Given the description of an element on the screen output the (x, y) to click on. 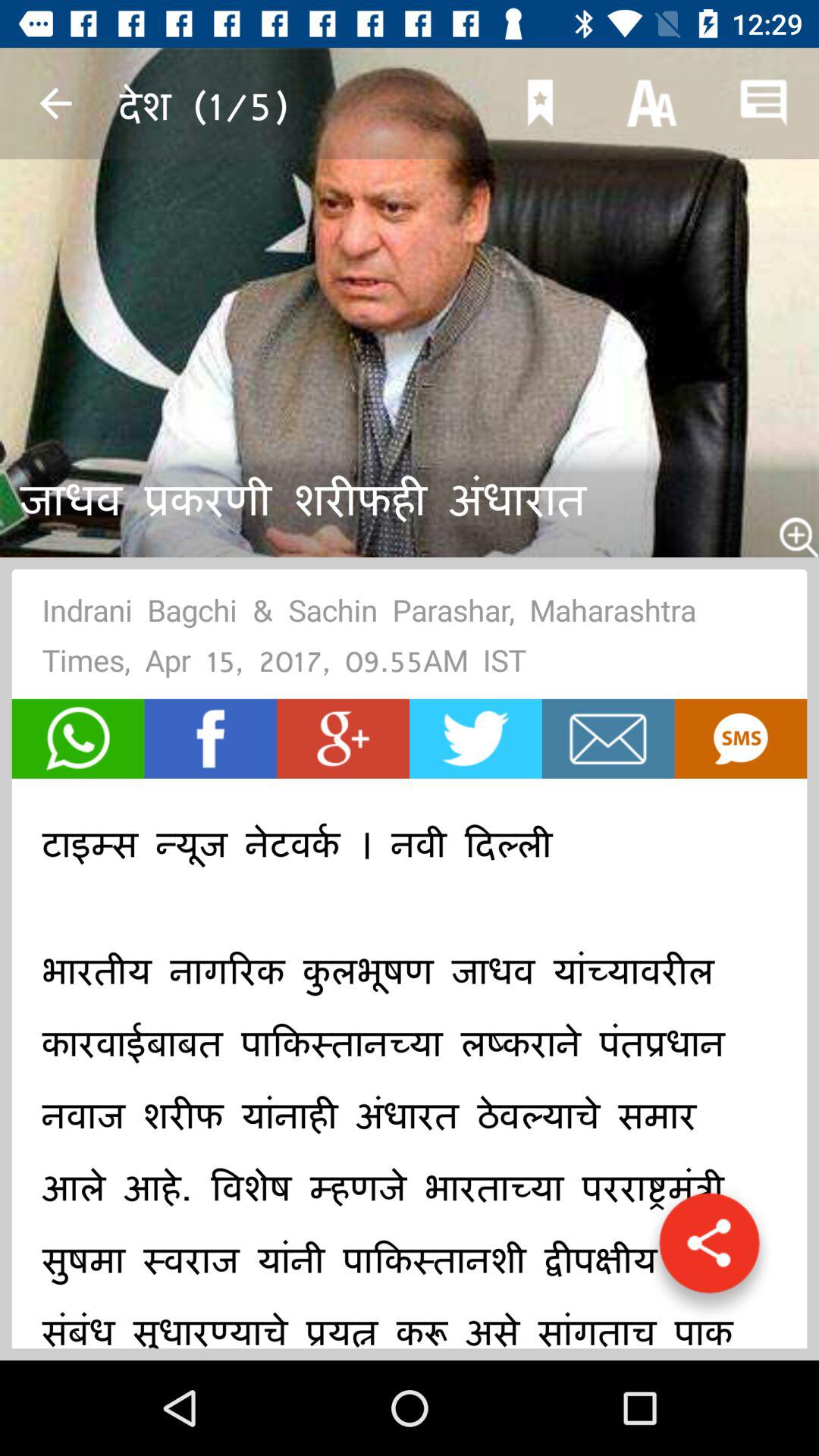
tweet article (475, 738)
